Given the description of an element on the screen output the (x, y) to click on. 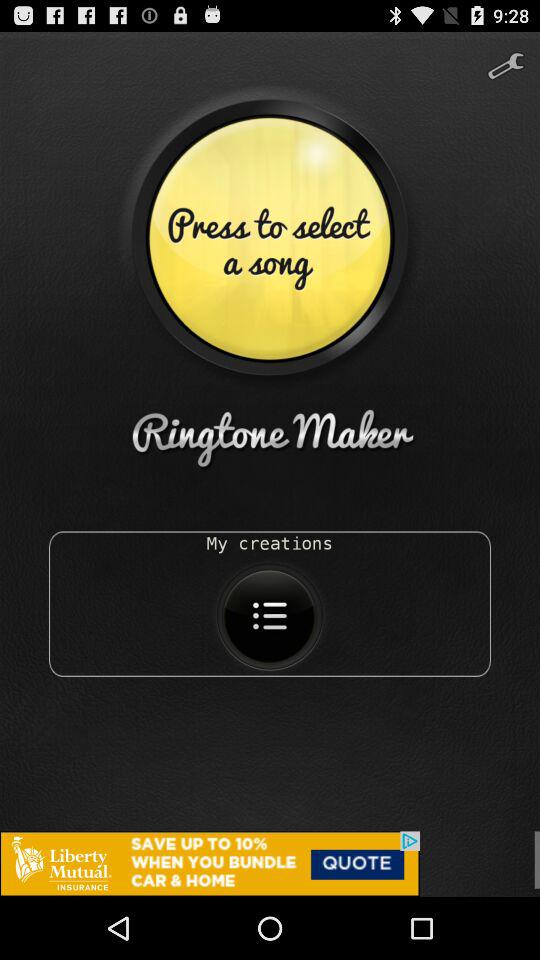
go to settings (505, 58)
